Given the description of an element on the screen output the (x, y) to click on. 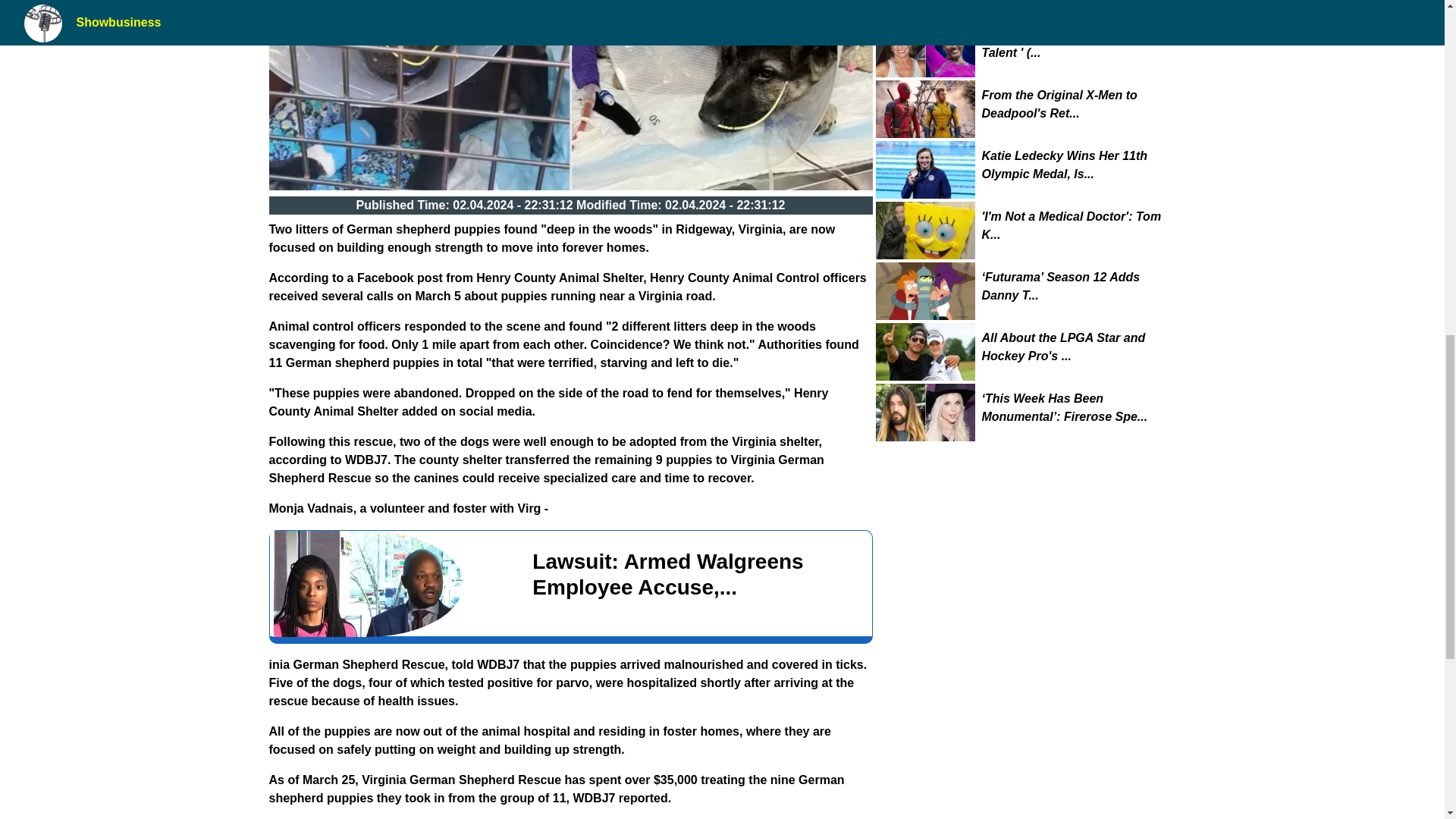
'I'm Not a Medical Doctor': Tom K... (1075, 226)
All About the LPGA Star and Hockey Pro's ... (1075, 347)
Lawsuit: Armed Walgreens Employee Accuse,... (570, 583)
Katie Ledecky Wins Her 11th Olympic Medal, Is... (1075, 165)
From the Original X-Men to Deadpool's Ret... (1075, 104)
